Given the description of an element on the screen output the (x, y) to click on. 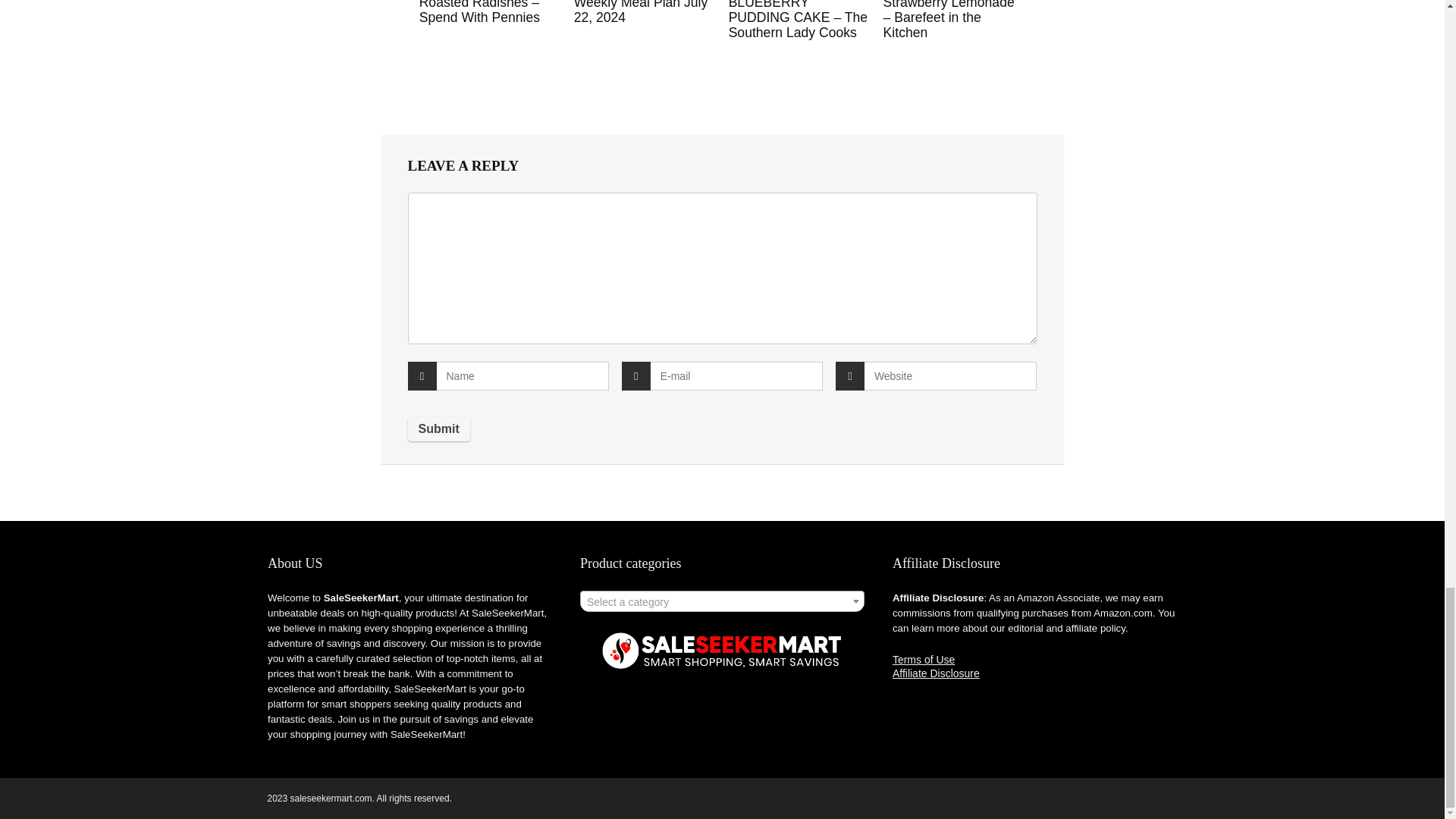
Submit (438, 428)
